Given the description of an element on the screen output the (x, y) to click on. 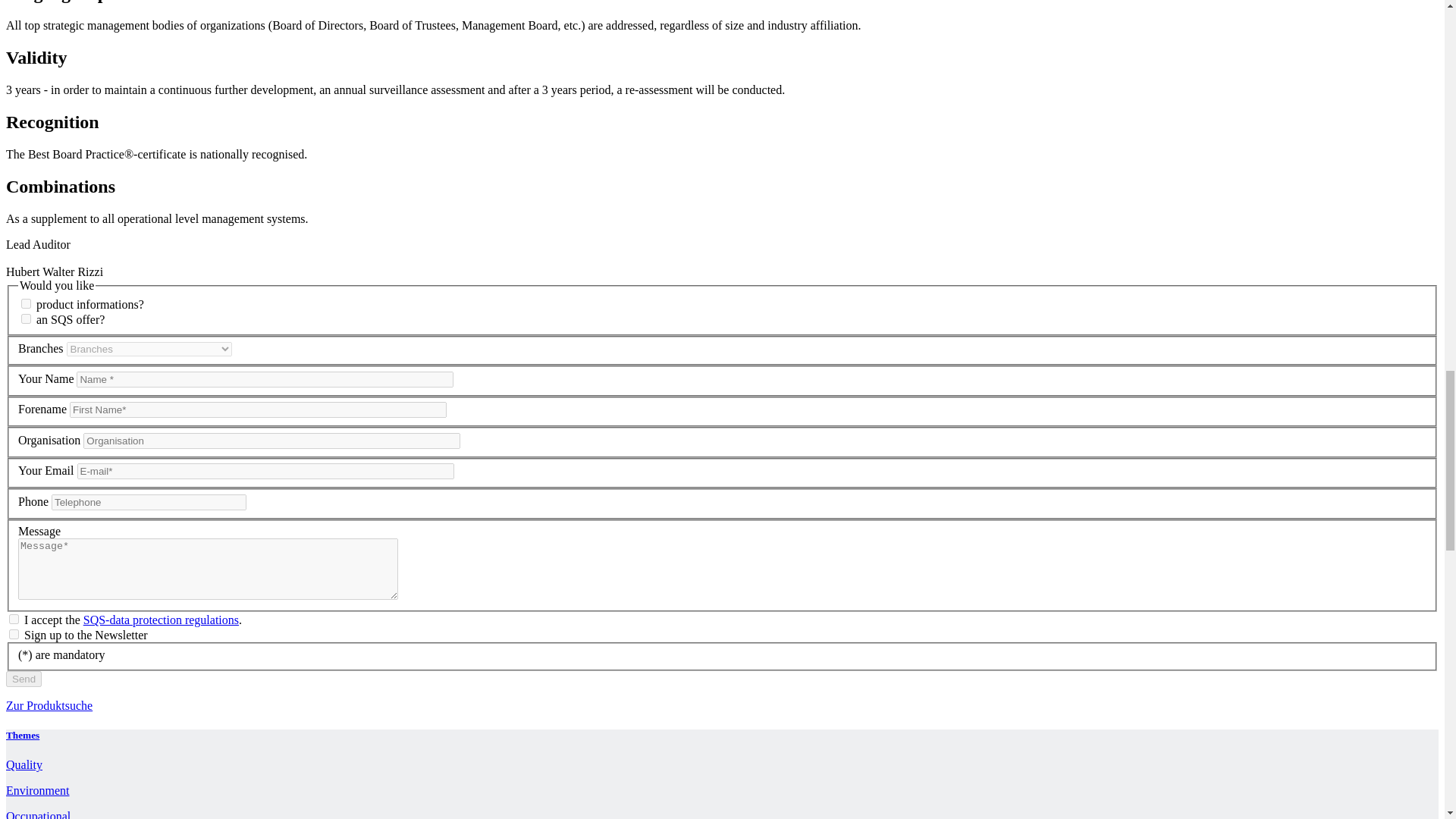
ein SQS-Angebot (25, 318)
1 (13, 619)
Environment (37, 789)
Themes (22, 735)
Send (23, 678)
Occupational health and safety (37, 814)
Produkt-Informationen (25, 303)
1 (13, 634)
Quality (23, 764)
